Given the description of an element on the screen output the (x, y) to click on. 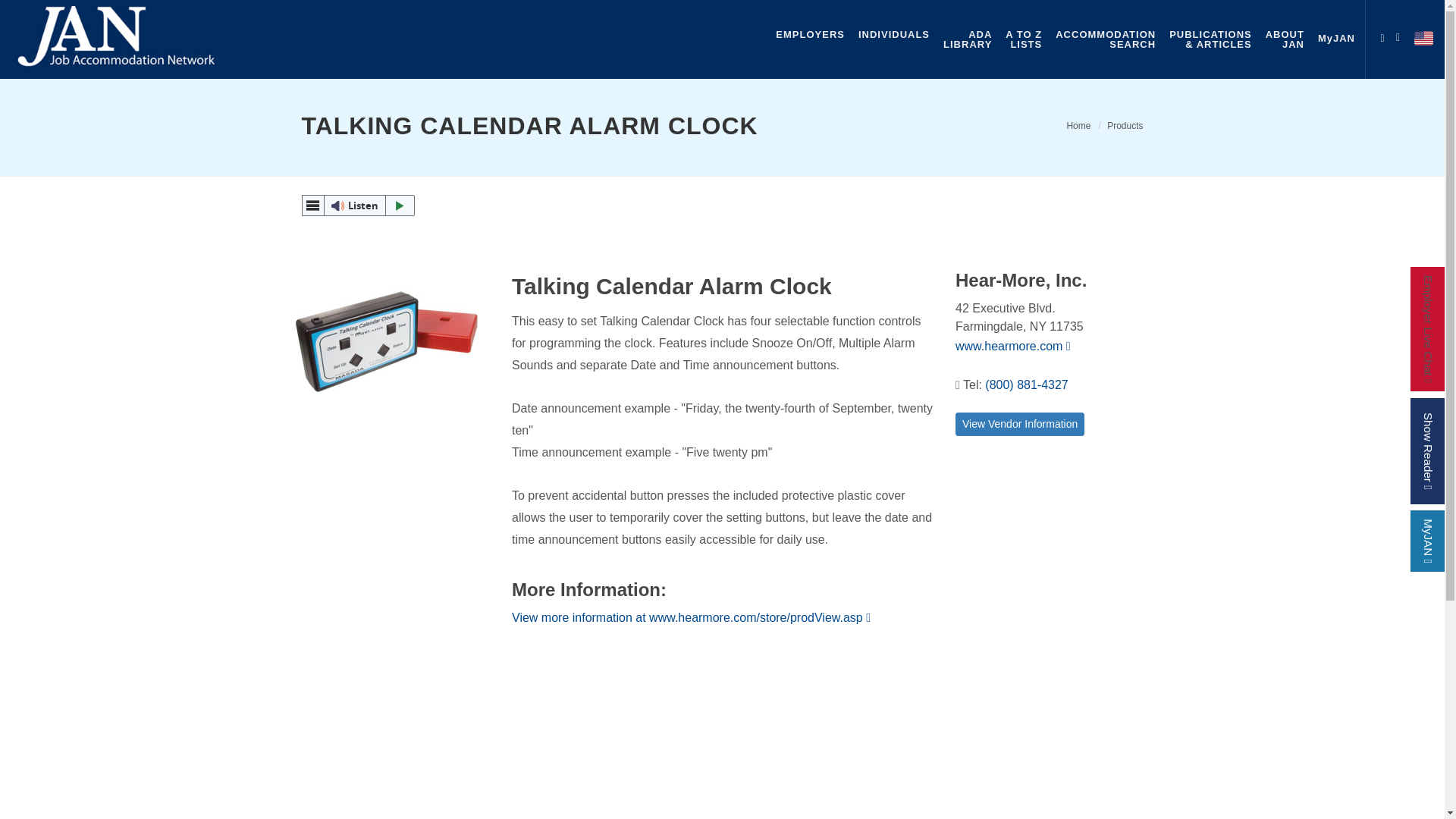
INDIVIDUALS (893, 34)
Home (1077, 125)
Listen (1105, 39)
EMPLOYERS (357, 205)
Products (810, 34)
Open Menu (1124, 125)
webReader menu (1382, 35)
Listen to this page using ReadSpeaker webReader (312, 205)
Open Search (357, 205)
